Given the description of an element on the screen output the (x, y) to click on. 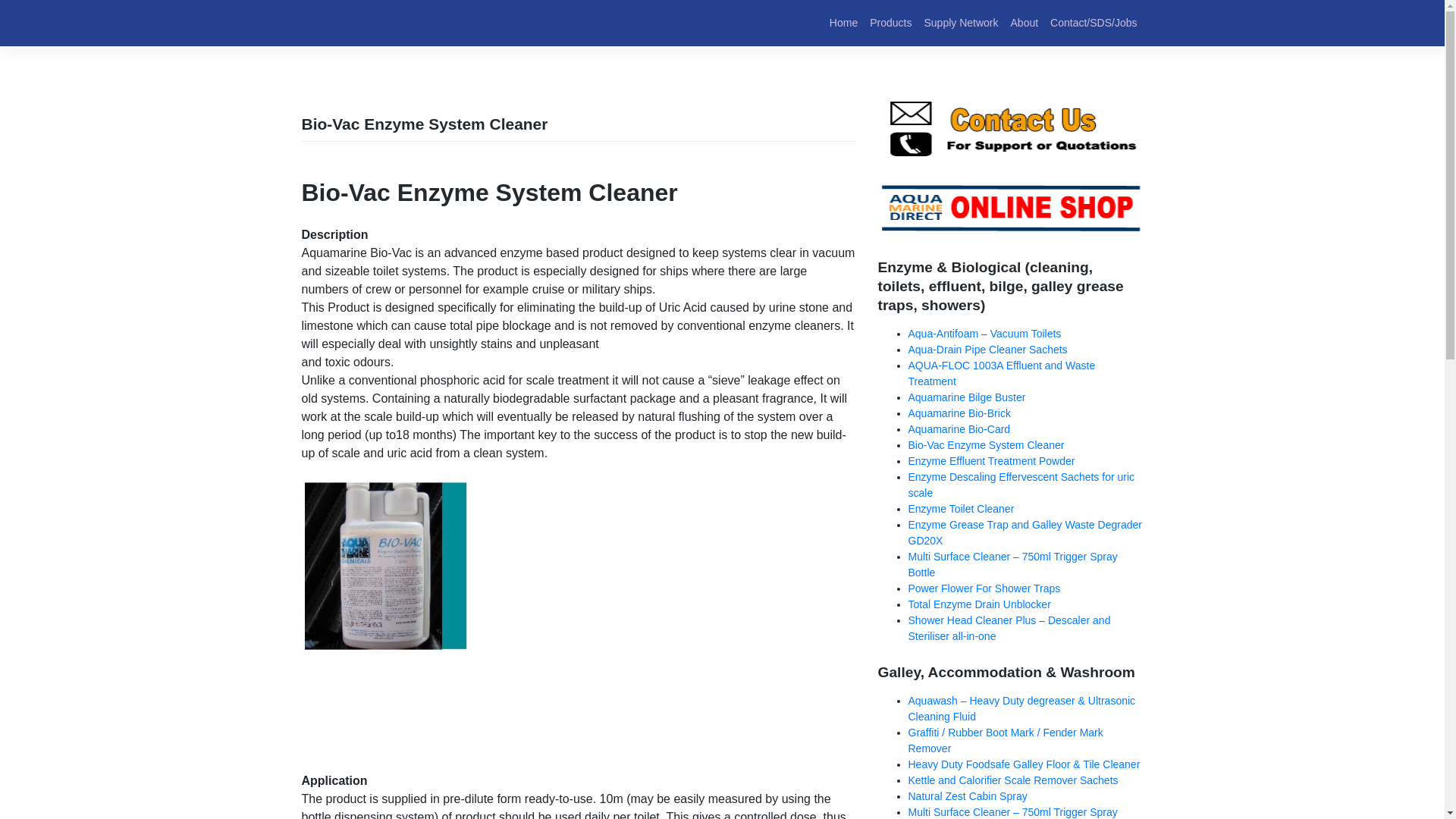
Aquamarine Bilge Buster (967, 397)
Aquamarine Chemicals (375, 32)
Kettle and Calorifier Scale Remover Sachets (1013, 779)
Products (890, 22)
Enzyme Grease Trap and Galley Waste Degrader GD20X (1024, 532)
Aqua-Drain Pipe Cleaner Sachets (987, 349)
Bio-Vac Enzyme System Cleaner (986, 444)
Home (843, 22)
Products (890, 22)
Home (843, 22)
Enzyme Descaling Effervescent Sachets for uric scale (1021, 484)
Aquamarine Bio-Brick (959, 413)
Enzyme Toilet Cleaner (961, 508)
Enzyme Effluent Treatment Powder (991, 460)
